Given the description of an element on the screen output the (x, y) to click on. 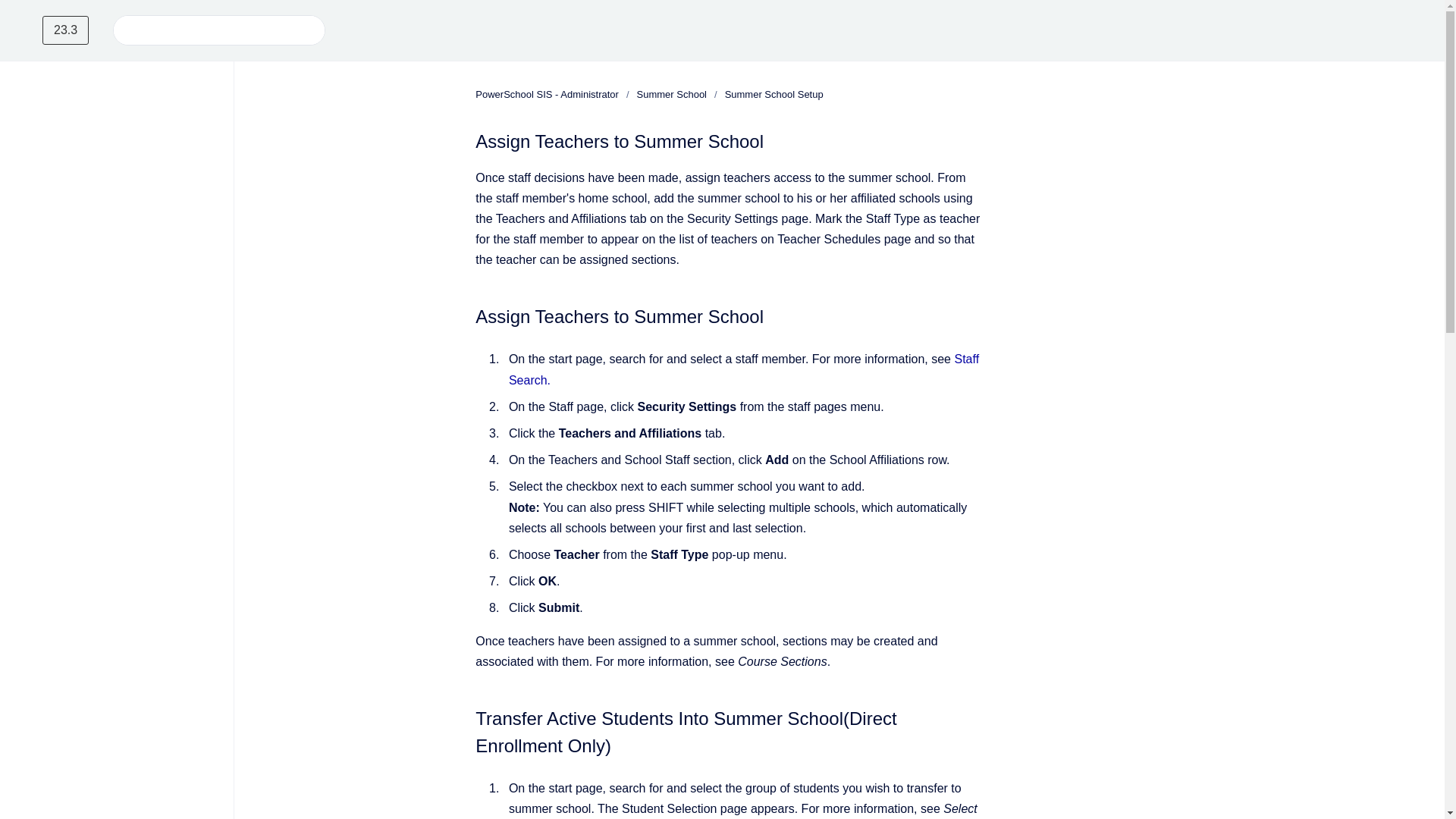
23.3 (65, 30)
PowerSchool SIS - Administrator (547, 94)
Staff Search. (743, 368)
Summer School Setup (774, 94)
Summer School (671, 94)
